Given the description of an element on the screen output the (x, y) to click on. 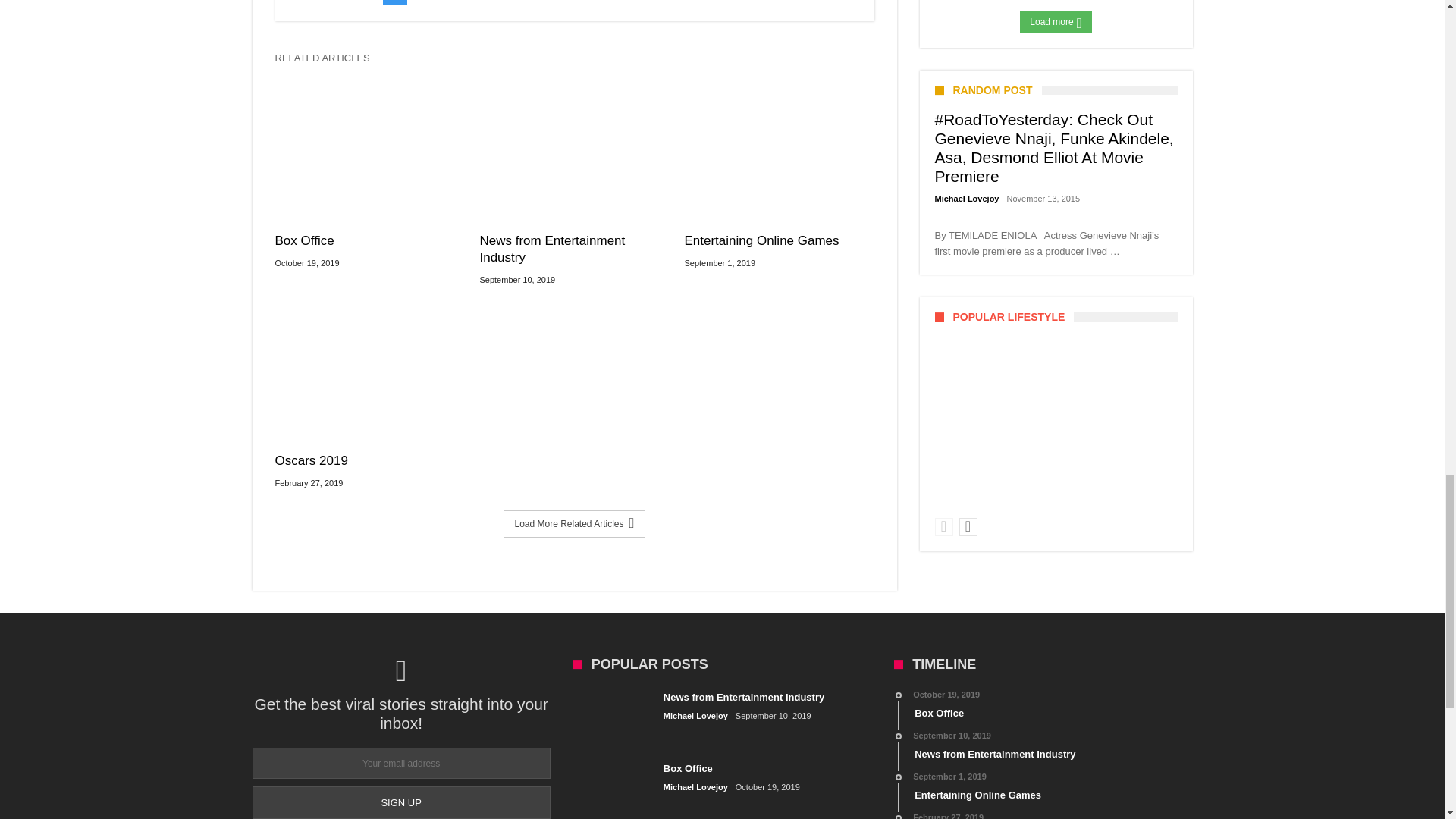
News from Entertainment Industry (573, 249)
Posts by Michael Lovejoy (695, 715)
Posts by Michael Lovejoy (966, 198)
Sign up (400, 802)
Box Office (369, 240)
Posts by Michael Lovejoy (695, 787)
RELATED ARTICLES (327, 61)
